Given the description of an element on the screen output the (x, y) to click on. 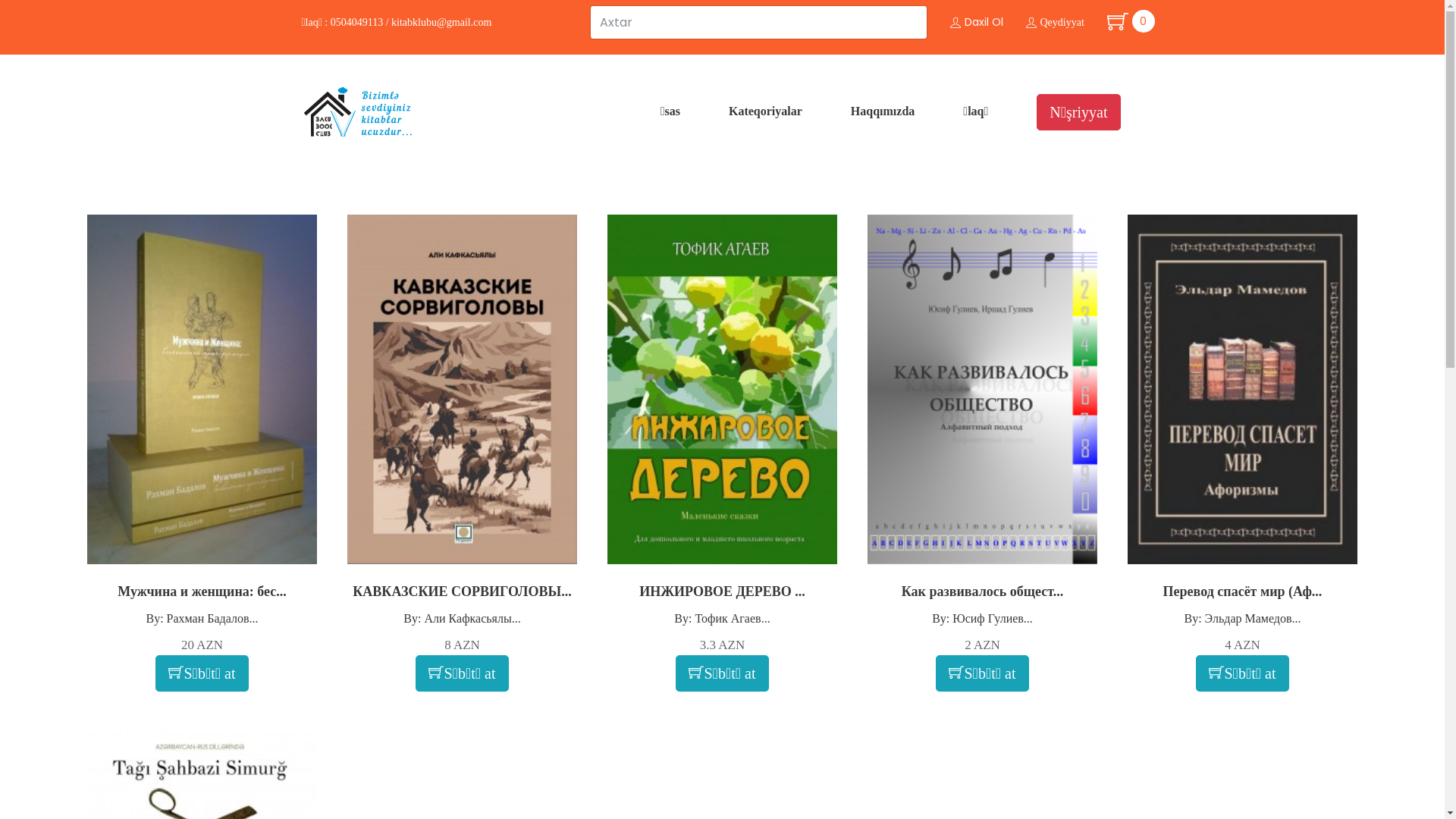
Kateqoriyalar Element type: text (765, 110)
Qeydiyyat Element type: text (1054, 22)
0 Element type: text (1119, 21)
kitabklubu@gmail.com Element type: text (441, 22)
Daxil Ol Element type: text (975, 21)
